Given the description of an element on the screen output the (x, y) to click on. 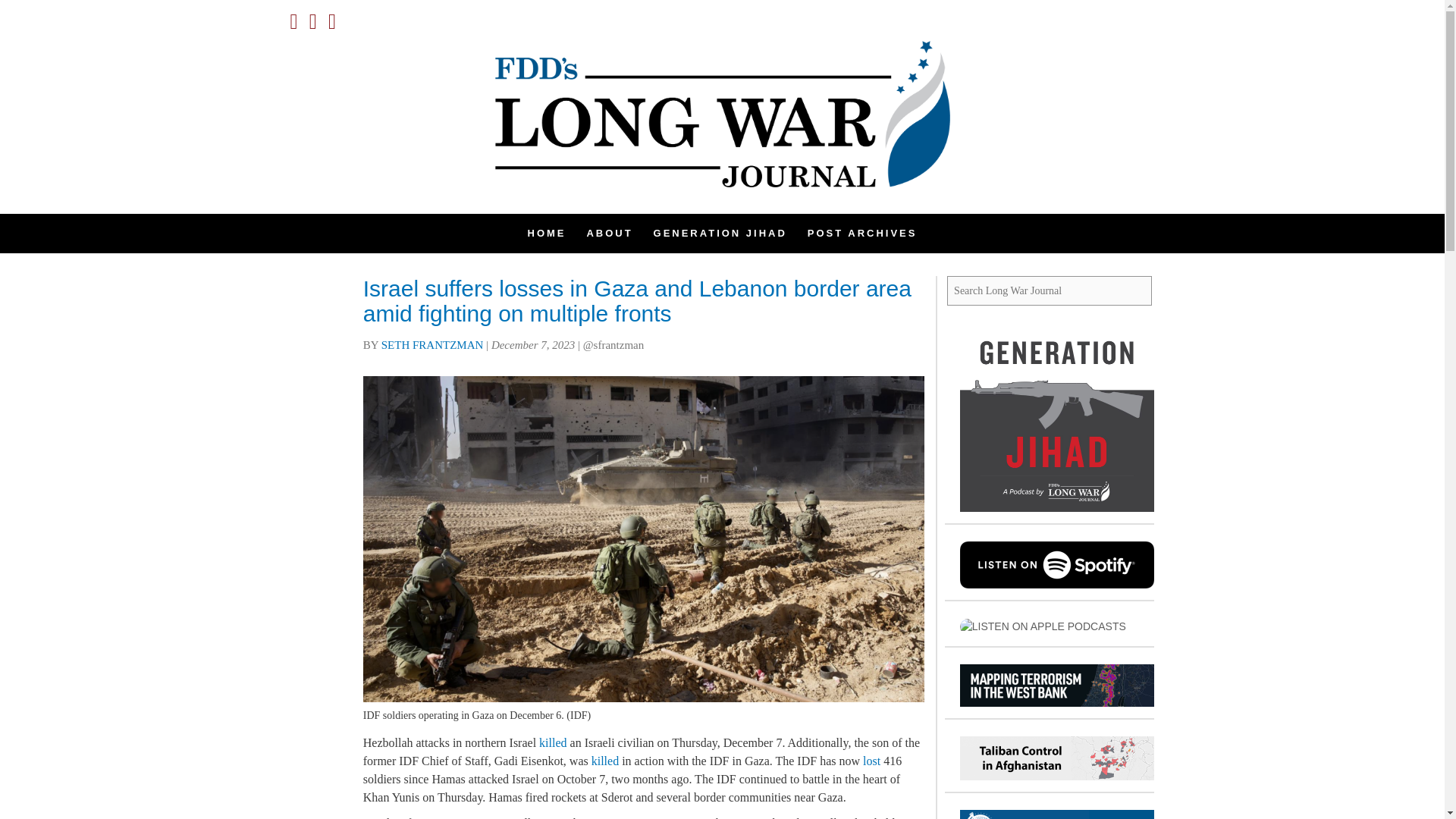
GENERATION JIHAD (720, 233)
ABOUT (608, 233)
Posts by Seth Frantzman (432, 345)
killed (604, 760)
met (560, 817)
lost (871, 760)
killed (552, 742)
POST ARCHIVES (862, 233)
SETH FRANTZMAN (432, 345)
HOME (546, 233)
